Given the description of an element on the screen output the (x, y) to click on. 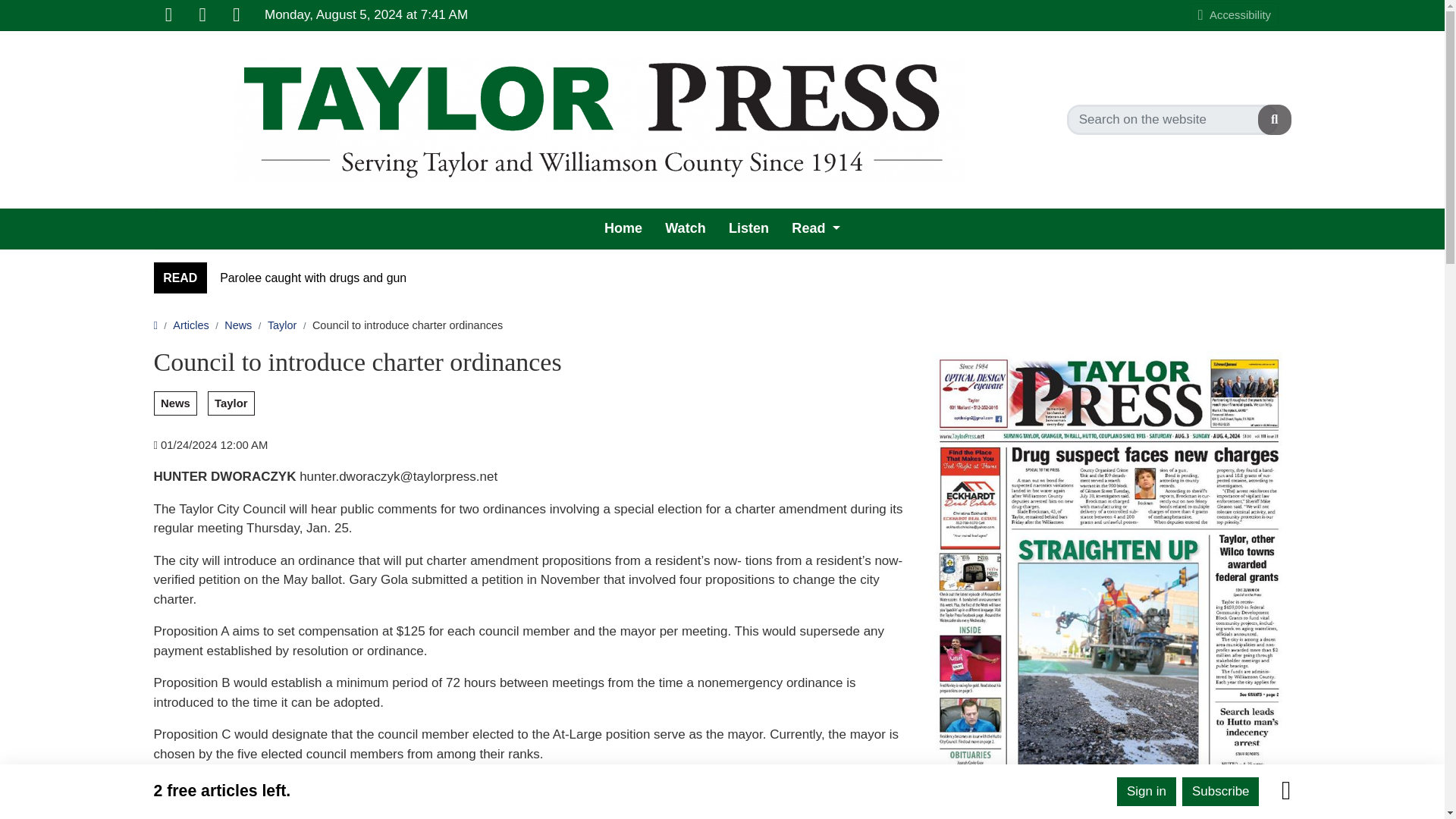
RSS (236, 15)
X.com (201, 15)
Read (816, 229)
Watch (684, 229)
Listen (748, 229)
Taylor (282, 325)
Go to Facebook.com (167, 15)
Go to X.com (201, 15)
Go to RSS (236, 15)
Home (623, 229)
Parolee caught with drugs and gun (312, 278)
News (237, 325)
Facebook.com (167, 15)
Articles (190, 325)
